Given the description of an element on the screen output the (x, y) to click on. 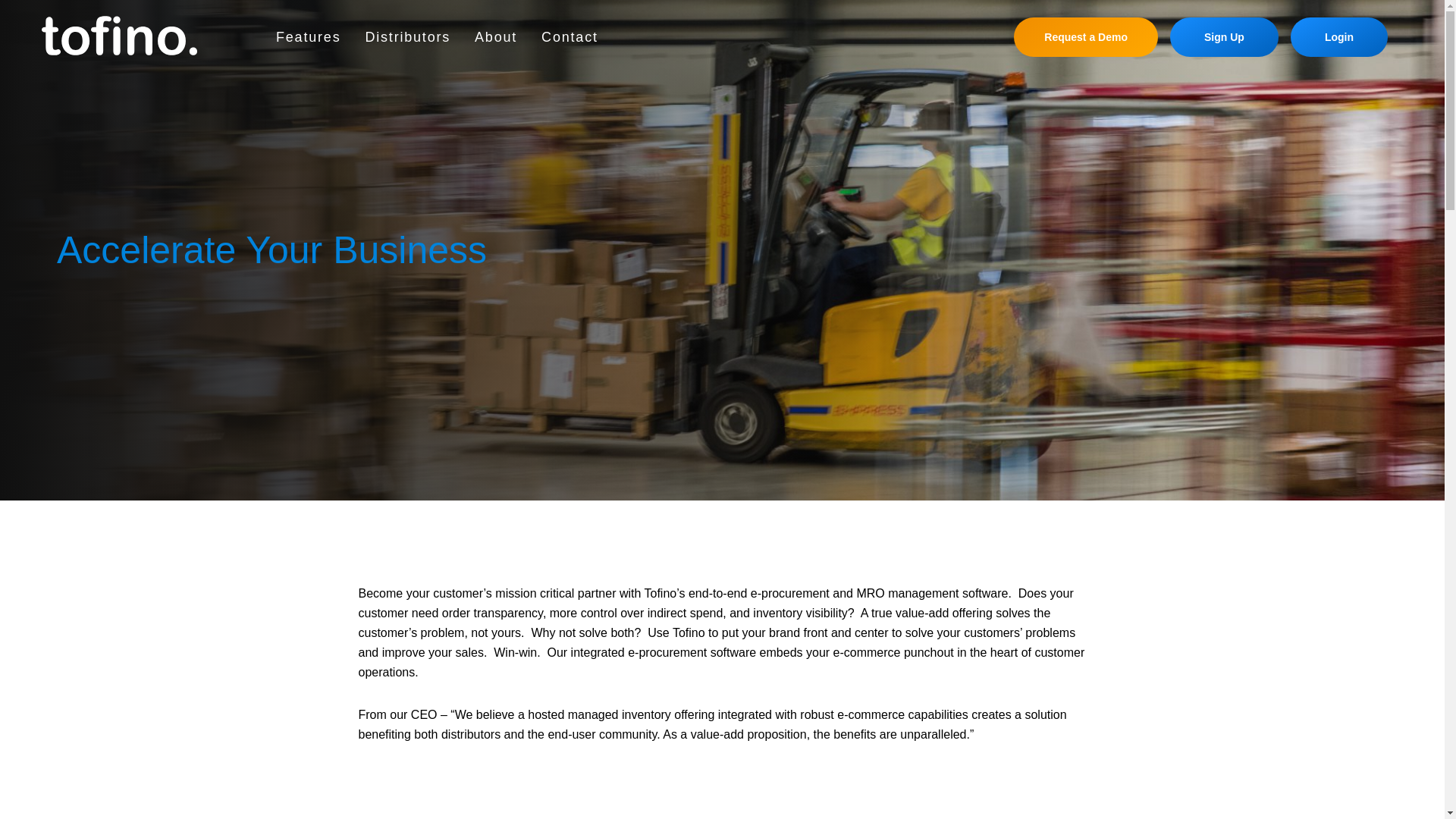
Features (308, 36)
